Given the description of an element on the screen output the (x, y) to click on. 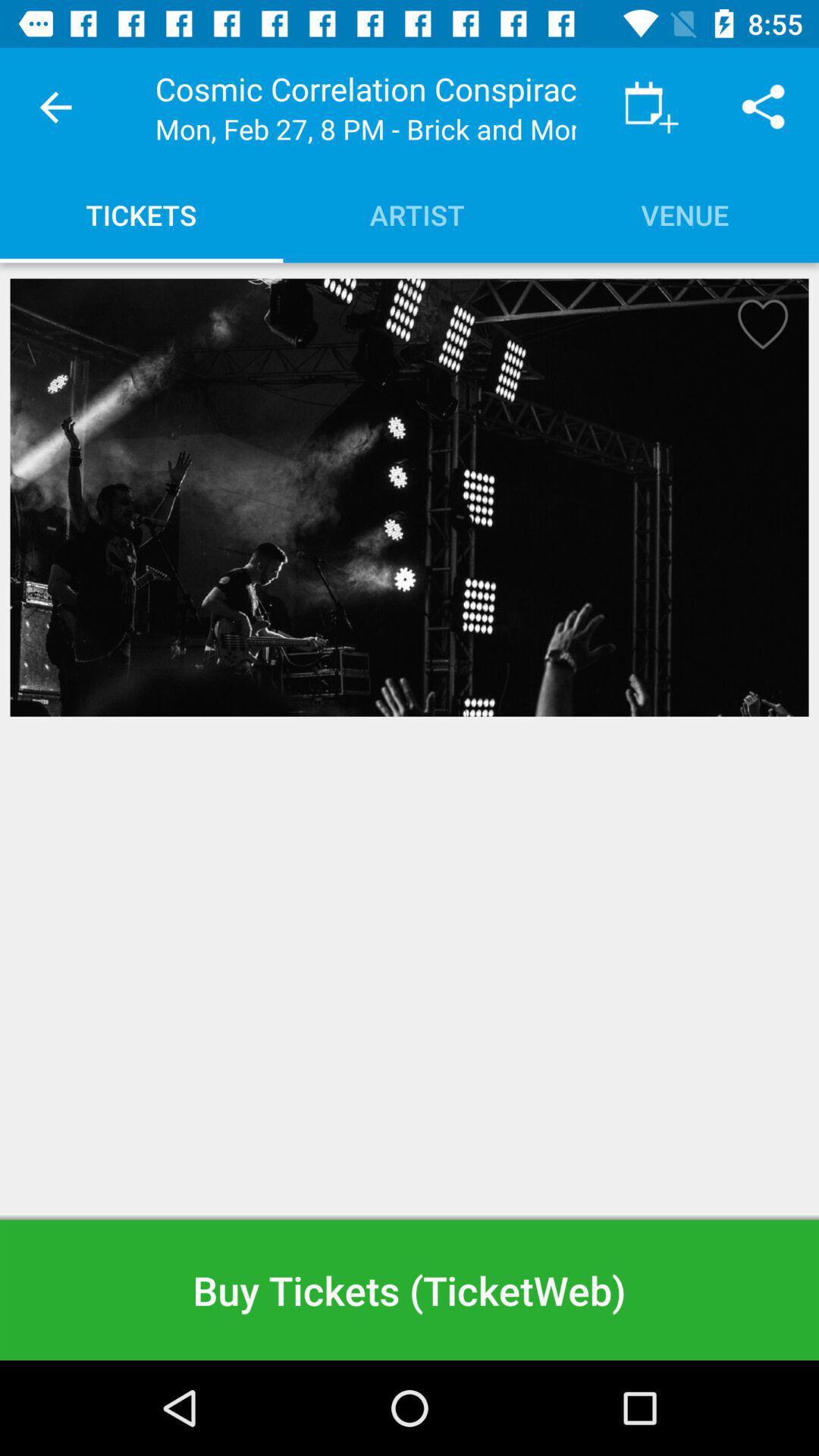
select icon to the left of cosmic correlation conspiracy item (55, 107)
